Given the description of an element on the screen output the (x, y) to click on. 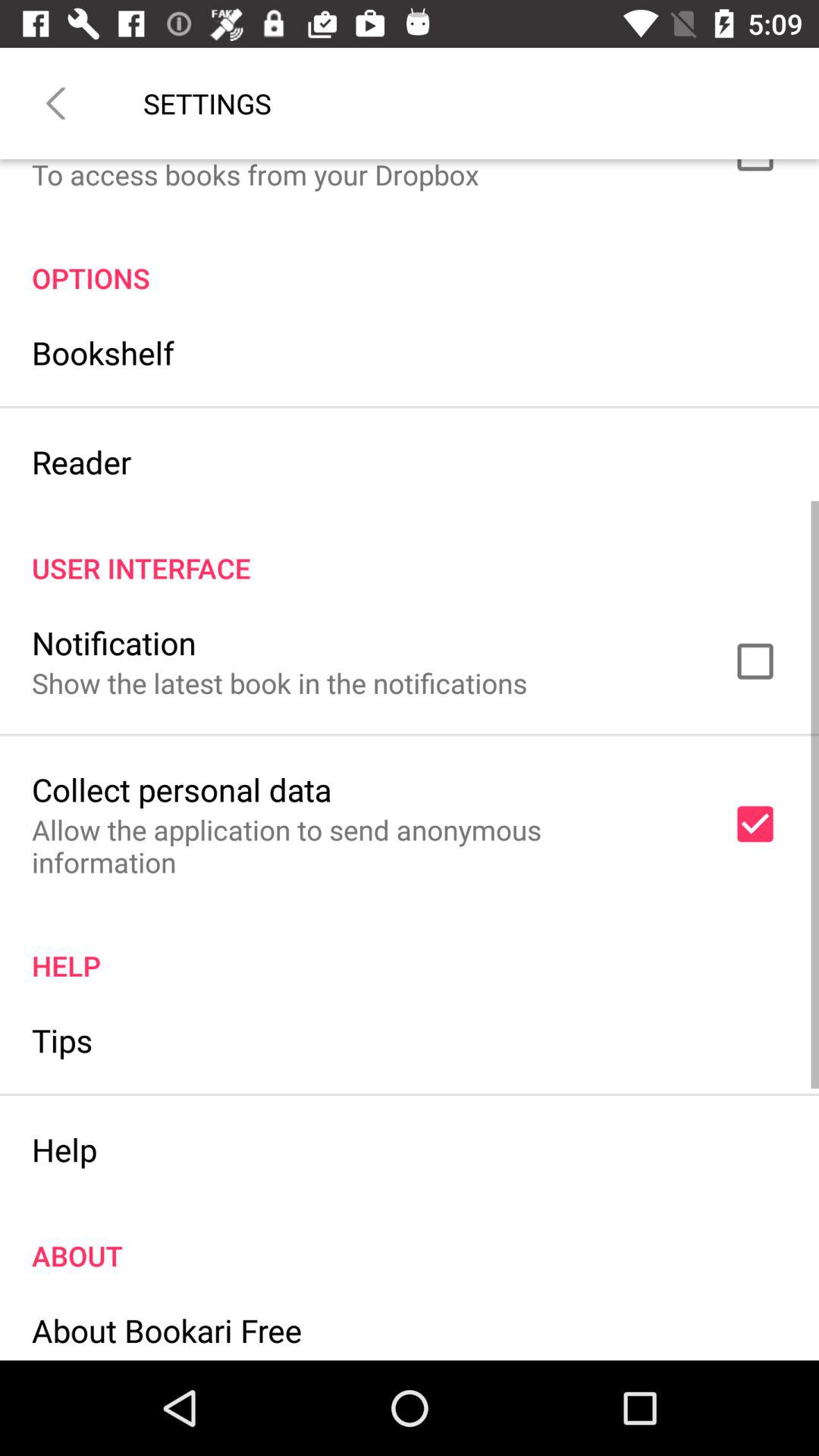
click item next to settings (55, 103)
